Given the description of an element on the screen output the (x, y) to click on. 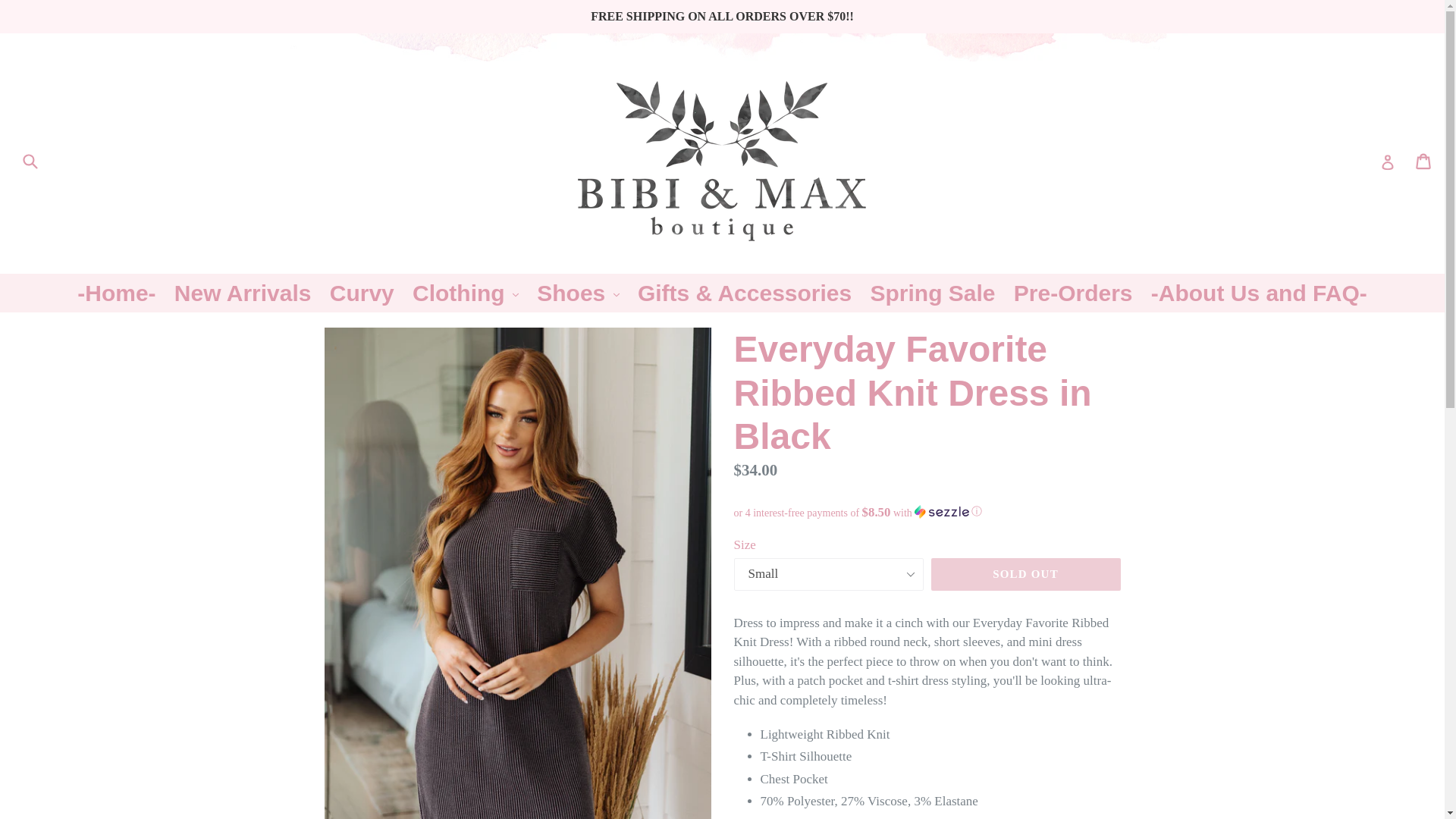
New Arrivals (242, 292)
Curvy (361, 292)
-Home- (116, 292)
Submit (29, 160)
Log in (1387, 161)
